Given the description of an element on the screen output the (x, y) to click on. 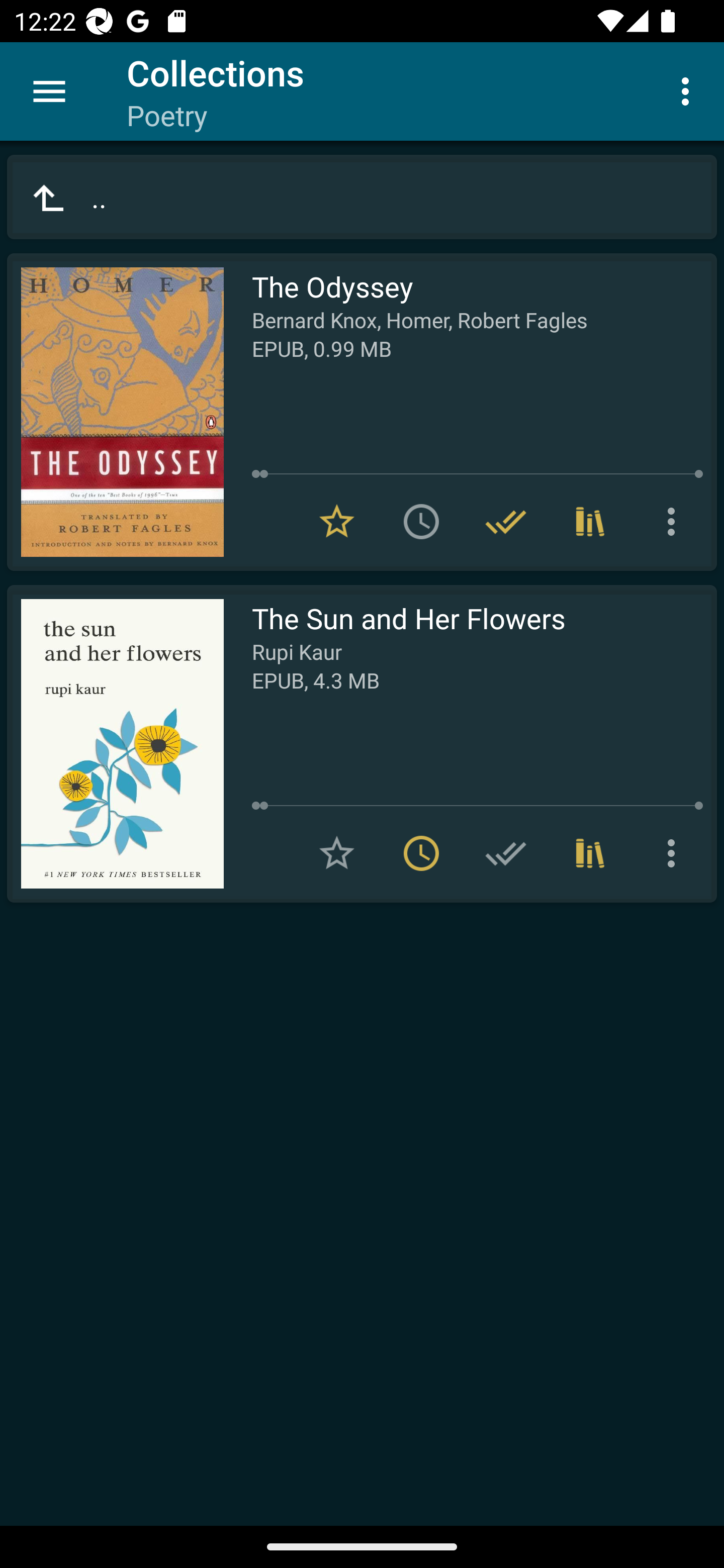
Menu (49, 91)
More options (688, 90)
.. (361, 197)
Read The Odyssey (115, 412)
Remove from Favorites (336, 521)
Add to To read (421, 521)
Remove from Have read (505, 521)
Collections (2) (590, 521)
More options (674, 521)
Read The Sun and Her Flowers (115, 743)
Add to Favorites (336, 852)
Remove from To read (421, 852)
Add to Have read (505, 852)
Collections (1) (590, 852)
More options (674, 852)
